Given the description of an element on the screen output the (x, y) to click on. 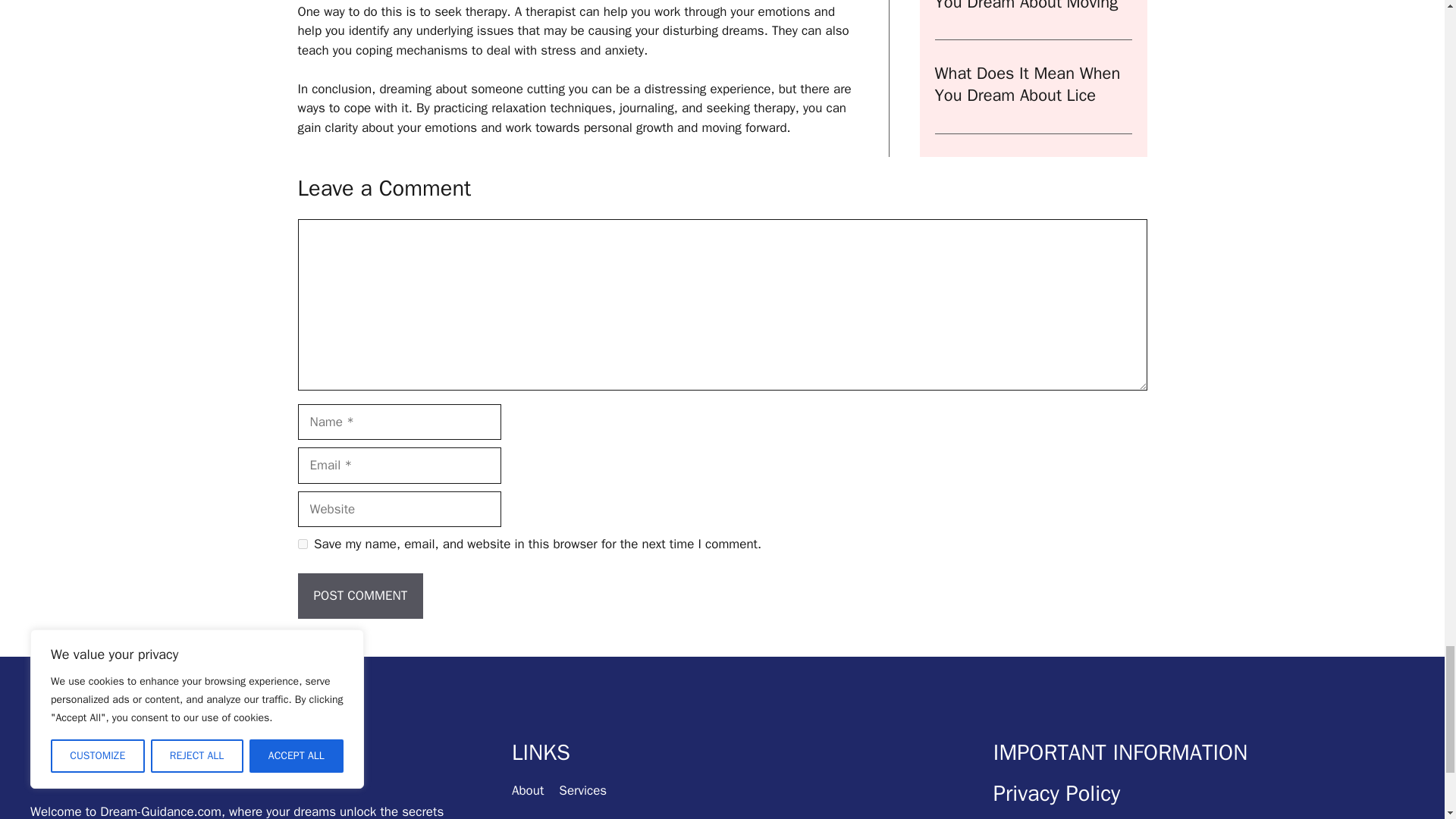
Post Comment (360, 596)
yes (302, 543)
